Given the description of an element on the screen output the (x, y) to click on. 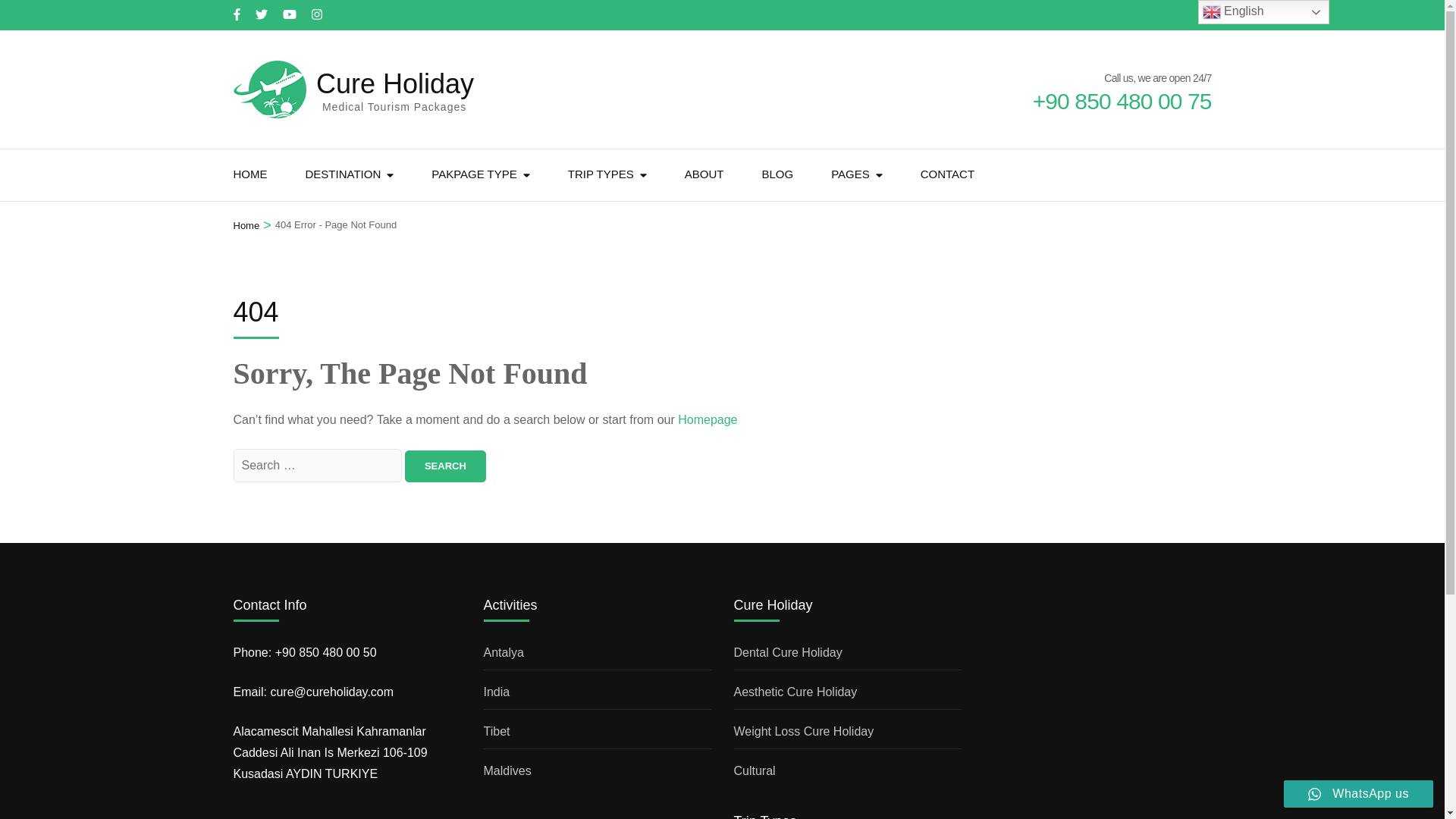
PAKPAGE TYPE (473, 174)
Search (445, 466)
Cure Holiday (394, 83)
DESTINATION (342, 174)
TRIP TYPES (600, 174)
Search (445, 466)
